Given the description of an element on the screen output the (x, y) to click on. 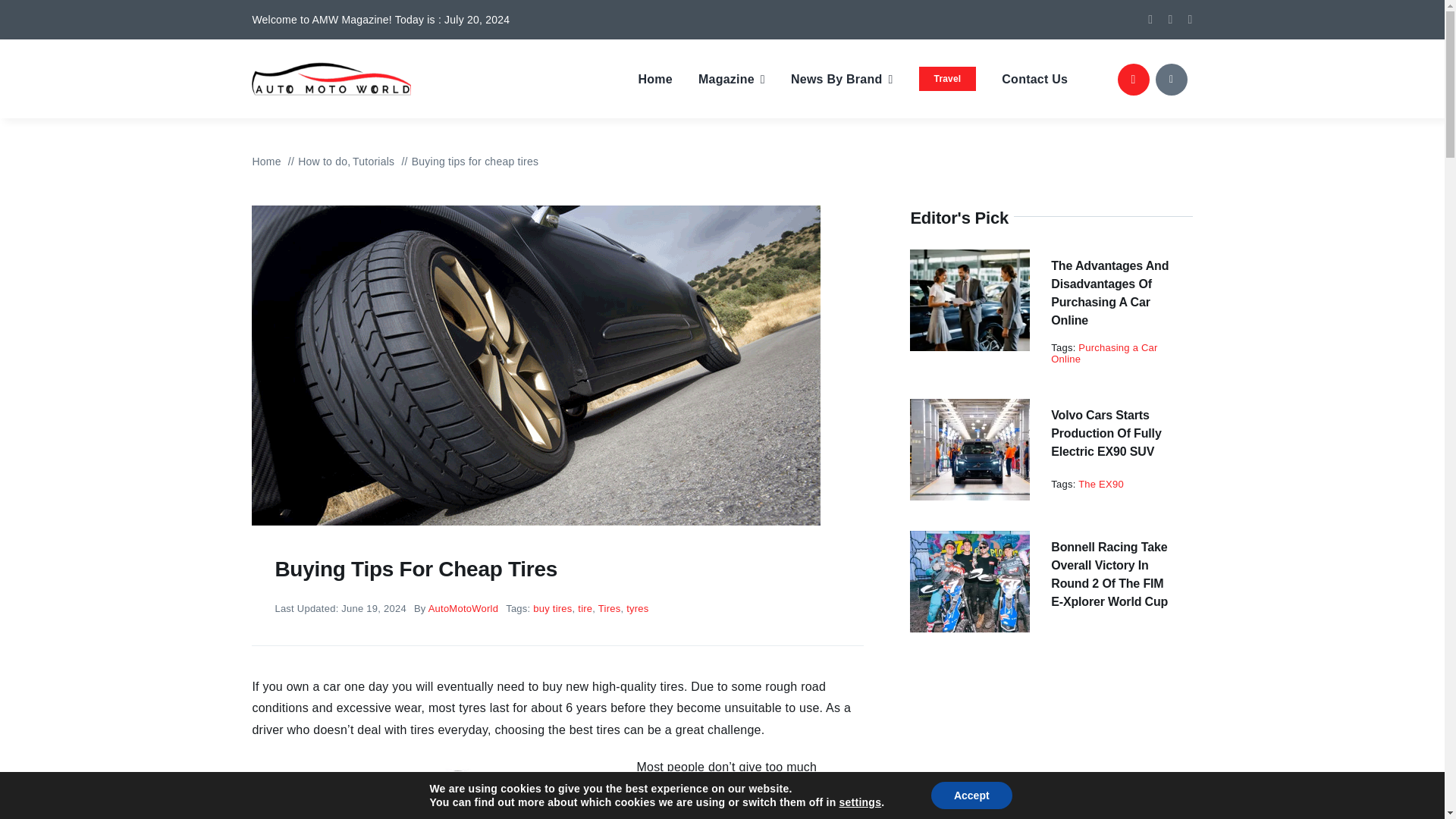
Posts by AutoMotoWorld (462, 608)
Advertisement (1051, 745)
Travel (947, 78)
Magazine (731, 78)
Contact Us (1034, 78)
News By Brand (841, 78)
